Given the description of an element on the screen output the (x, y) to click on. 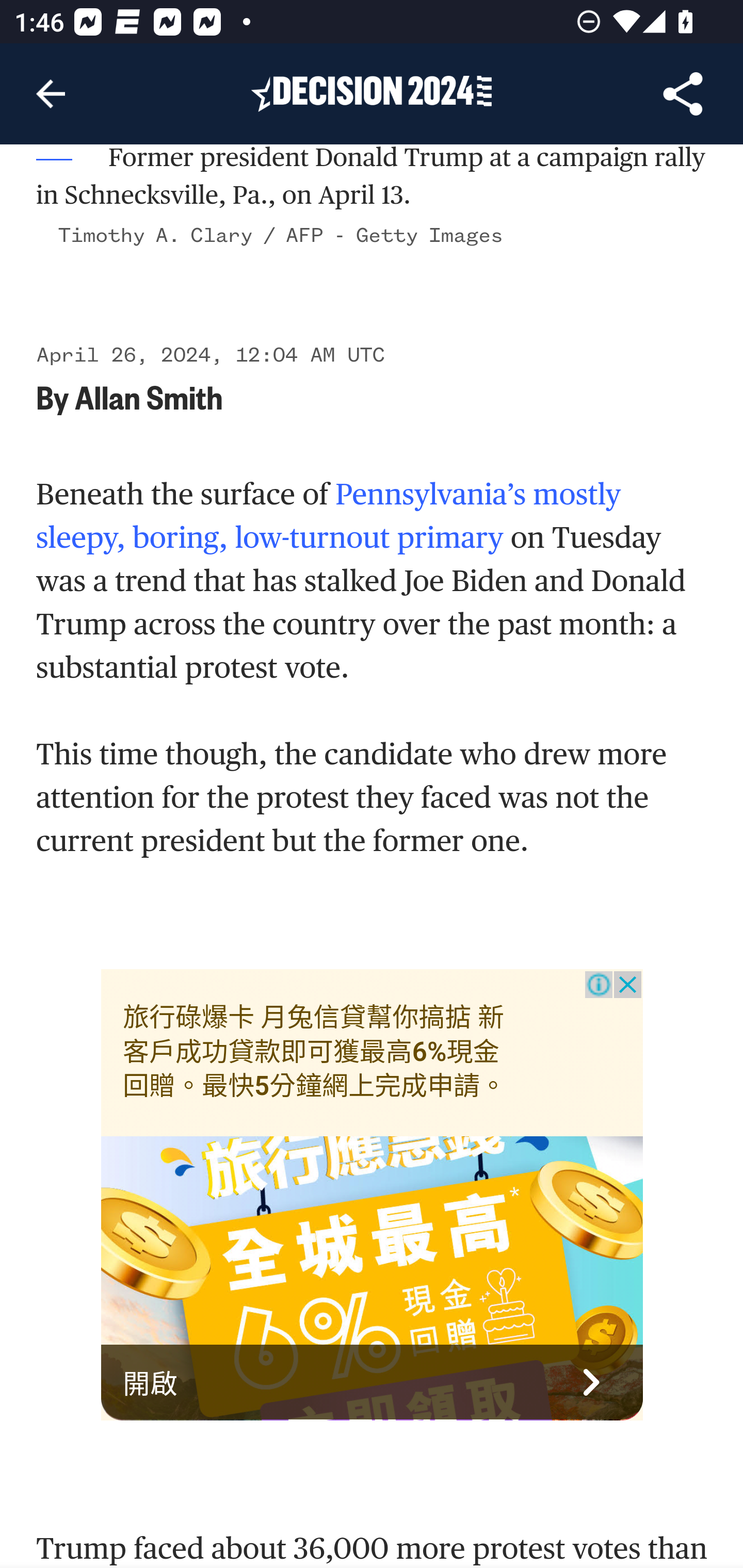
Navigate up (50, 93)
Share Article, button (683, 94)
Header, Decision 2024 (371, 93)
Allan Smith (148, 396)
開啟 (372, 1382)
